Given the description of an element on the screen output the (x, y) to click on. 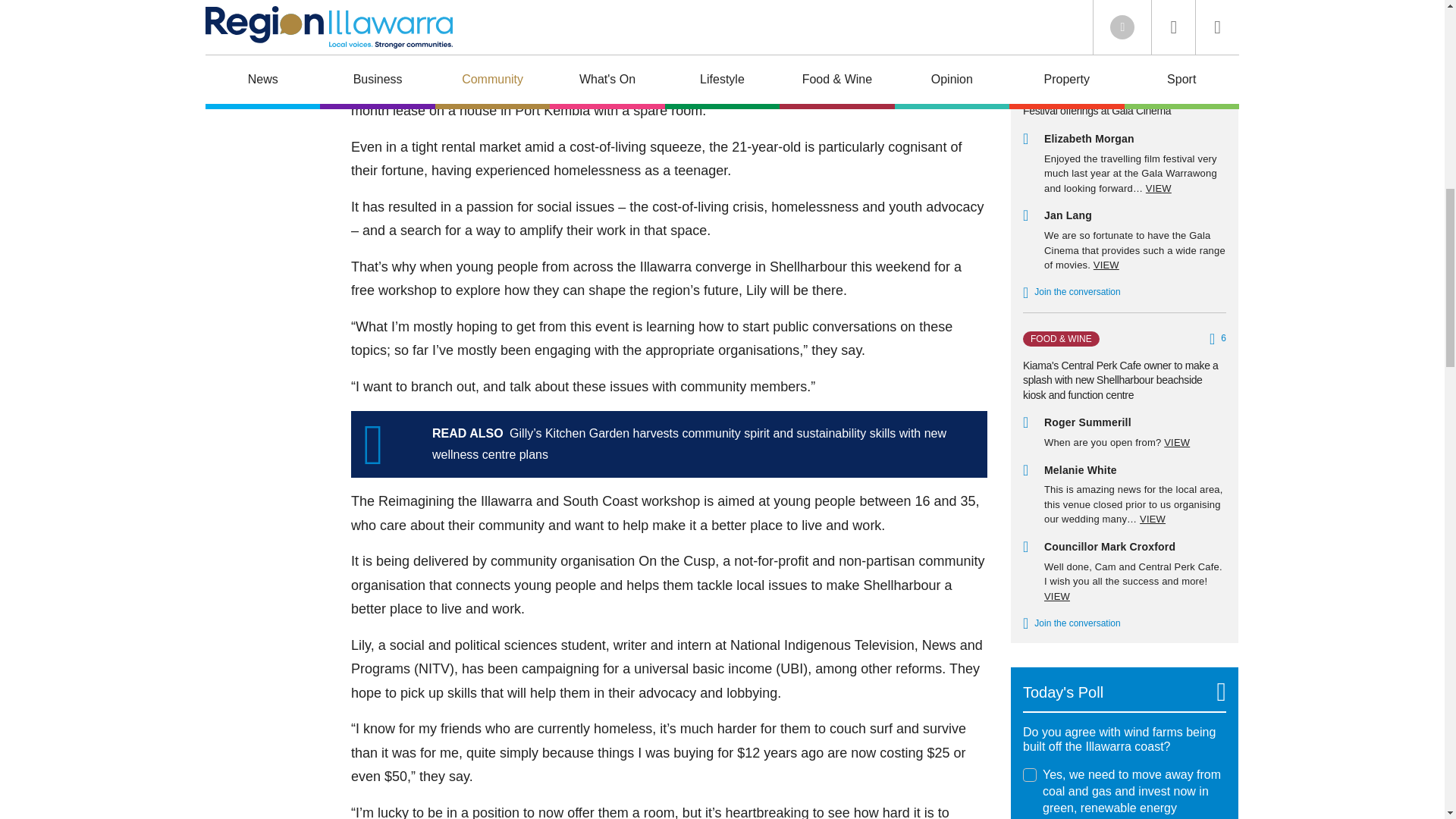
15 (1029, 775)
